Given the description of an element on the screen output the (x, y) to click on. 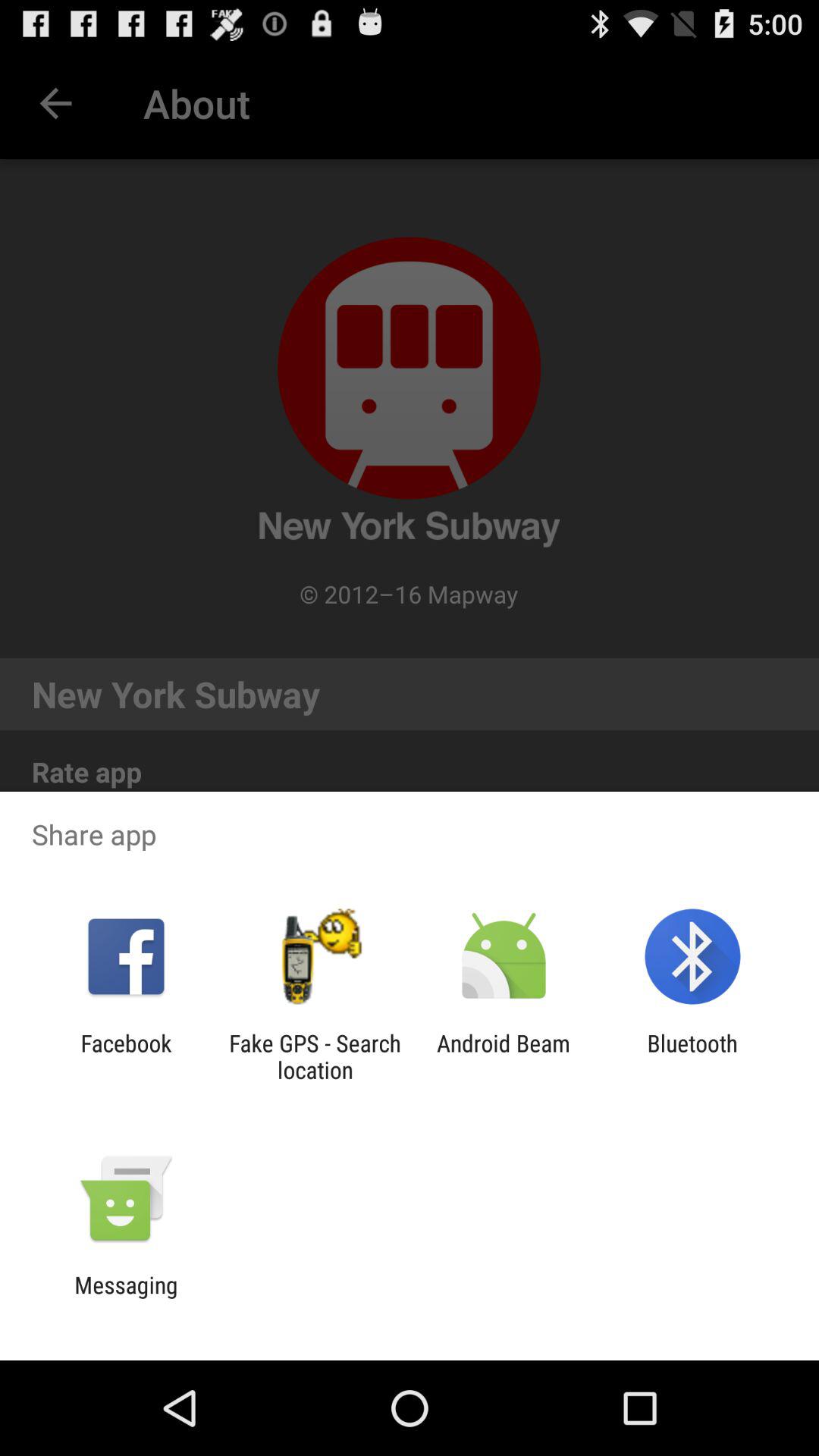
launch icon next to fake gps search app (125, 1056)
